Given the description of an element on the screen output the (x, y) to click on. 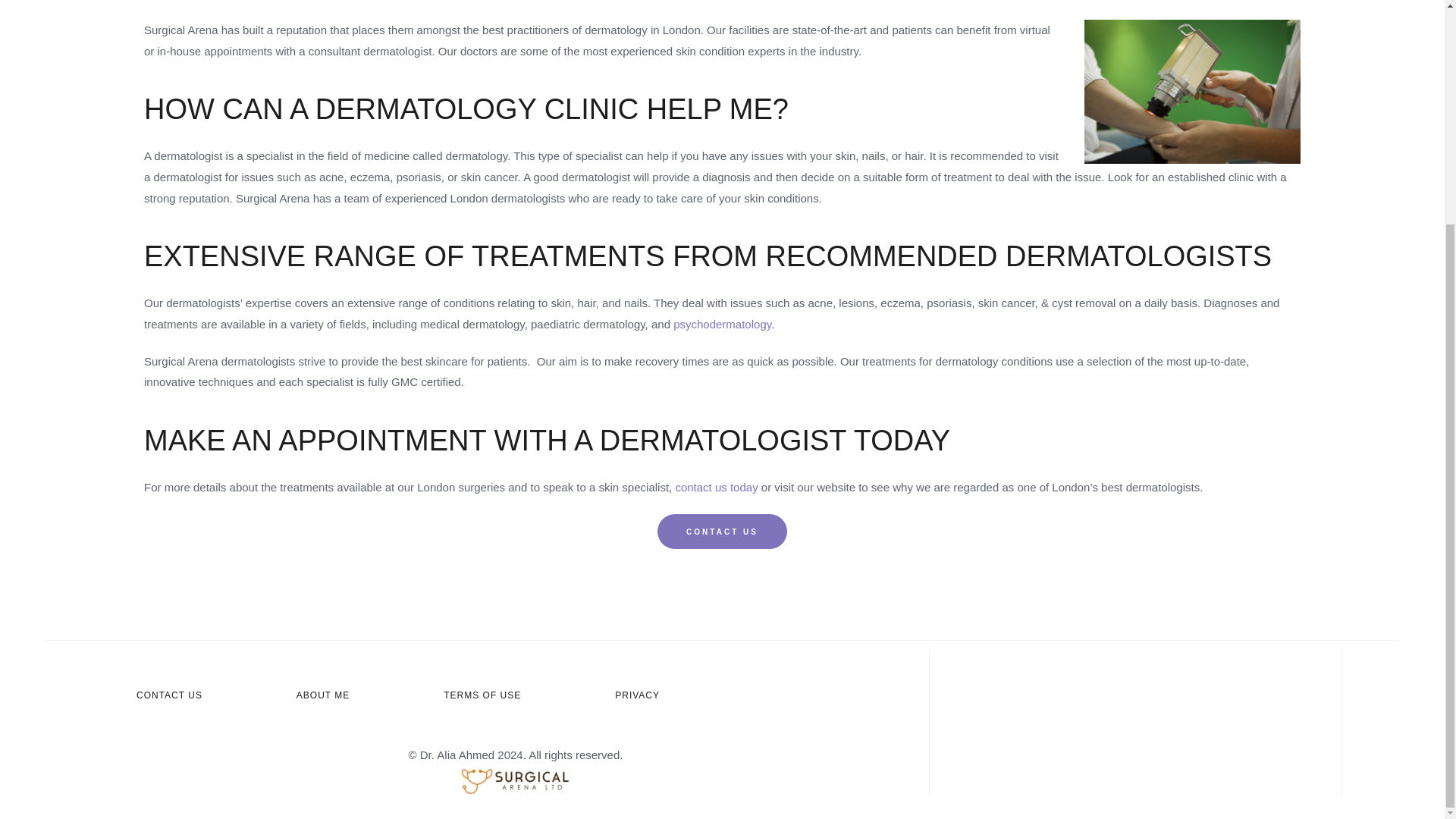
CONTACT US (722, 531)
TERMS OF USE (481, 695)
contact us today (716, 486)
ABOUT ME (322, 695)
CONTACT US (169, 695)
psychodermatology (721, 323)
PRIVACY (637, 695)
